Given the description of an element on the screen output the (x, y) to click on. 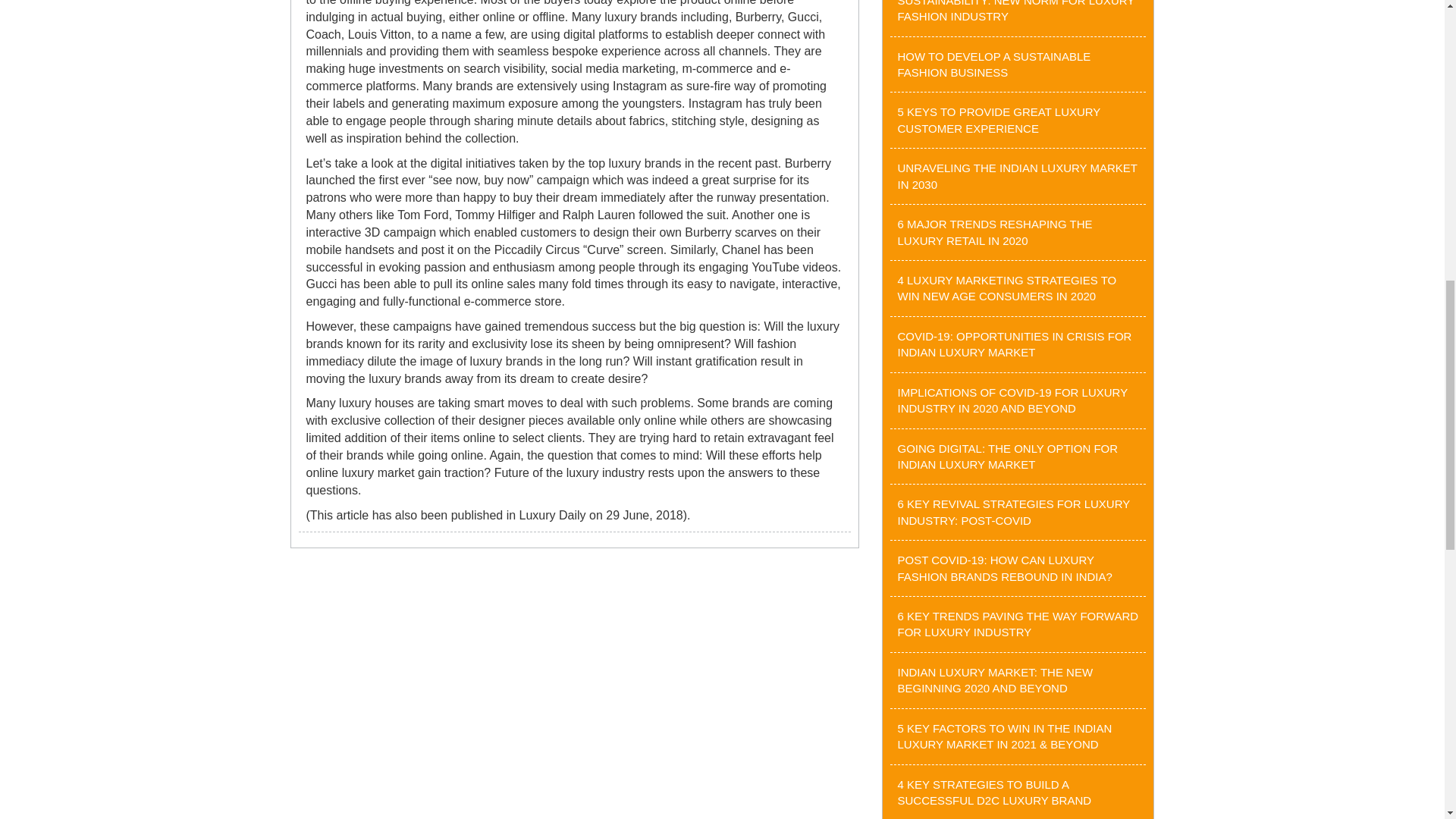
5 KEYS TO PROVIDE GREAT LUXURY CUSTOMER EXPERIENCE (999, 119)
SUSTAINABILITY: NEW NORM FOR LUXURY FASHION INDUSTRY (1016, 11)
GOING DIGITAL: THE ONLY OPTION FOR INDIAN LUXURY MARKET (1008, 456)
COVID-19: OPPORTUNITIES IN CRISIS FOR INDIAN LUXURY MARKET (1015, 344)
6 MAJOR TRENDS RESHAPING THE LUXURY RETAIL IN 2020 (995, 231)
UNRAVELING THE INDIAN LUXURY MARKET IN 2030 (1017, 175)
HOW TO DEVELOP A SUSTAINABLE FASHION BUSINESS (994, 63)
6 KEY REVIVAL STRATEGIES FOR LUXURY INDUSTRY: POST-COVID (1014, 511)
